Given the description of an element on the screen output the (x, y) to click on. 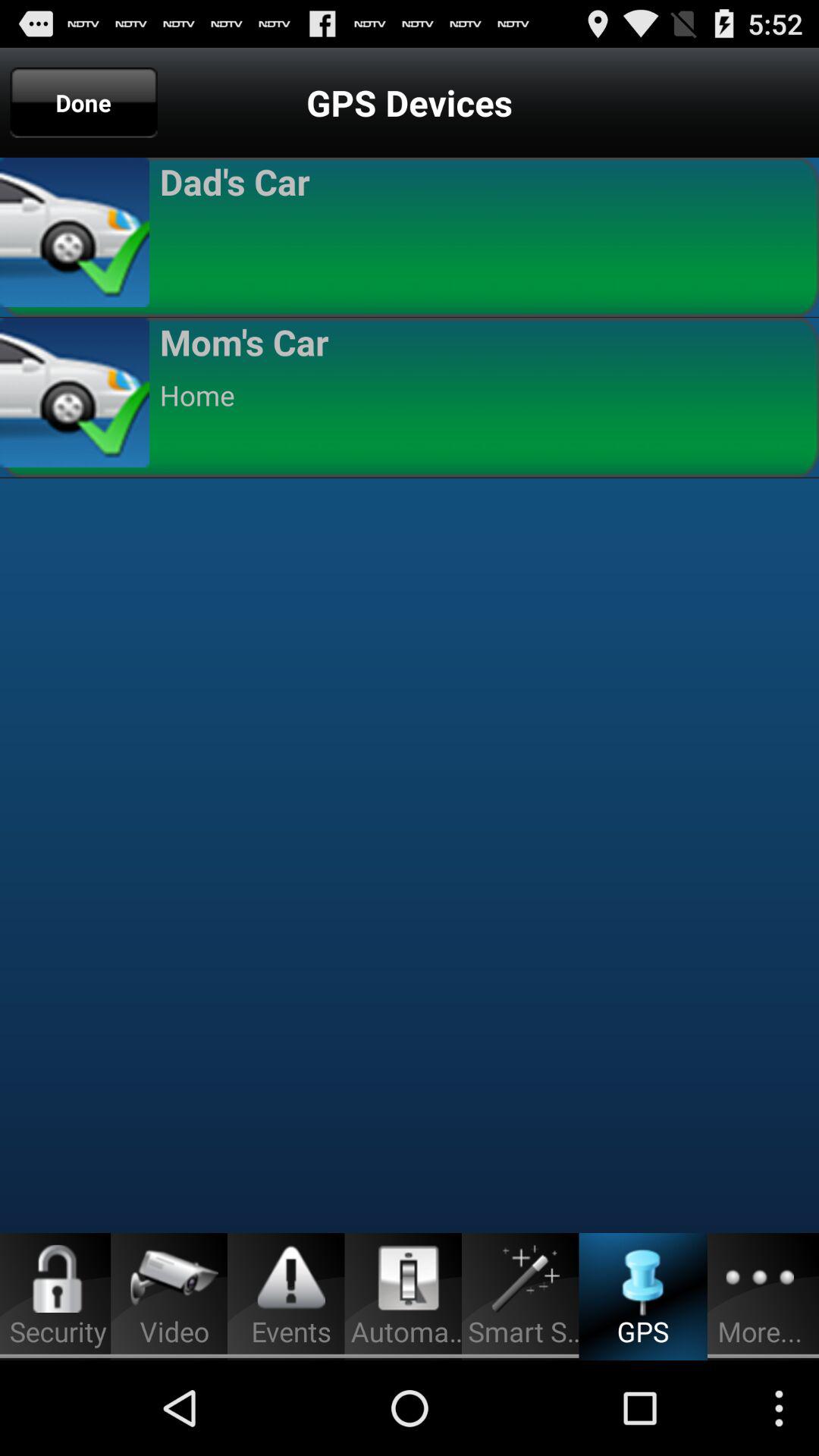
flip until the done item (83, 102)
